Given the description of an element on the screen output the (x, y) to click on. 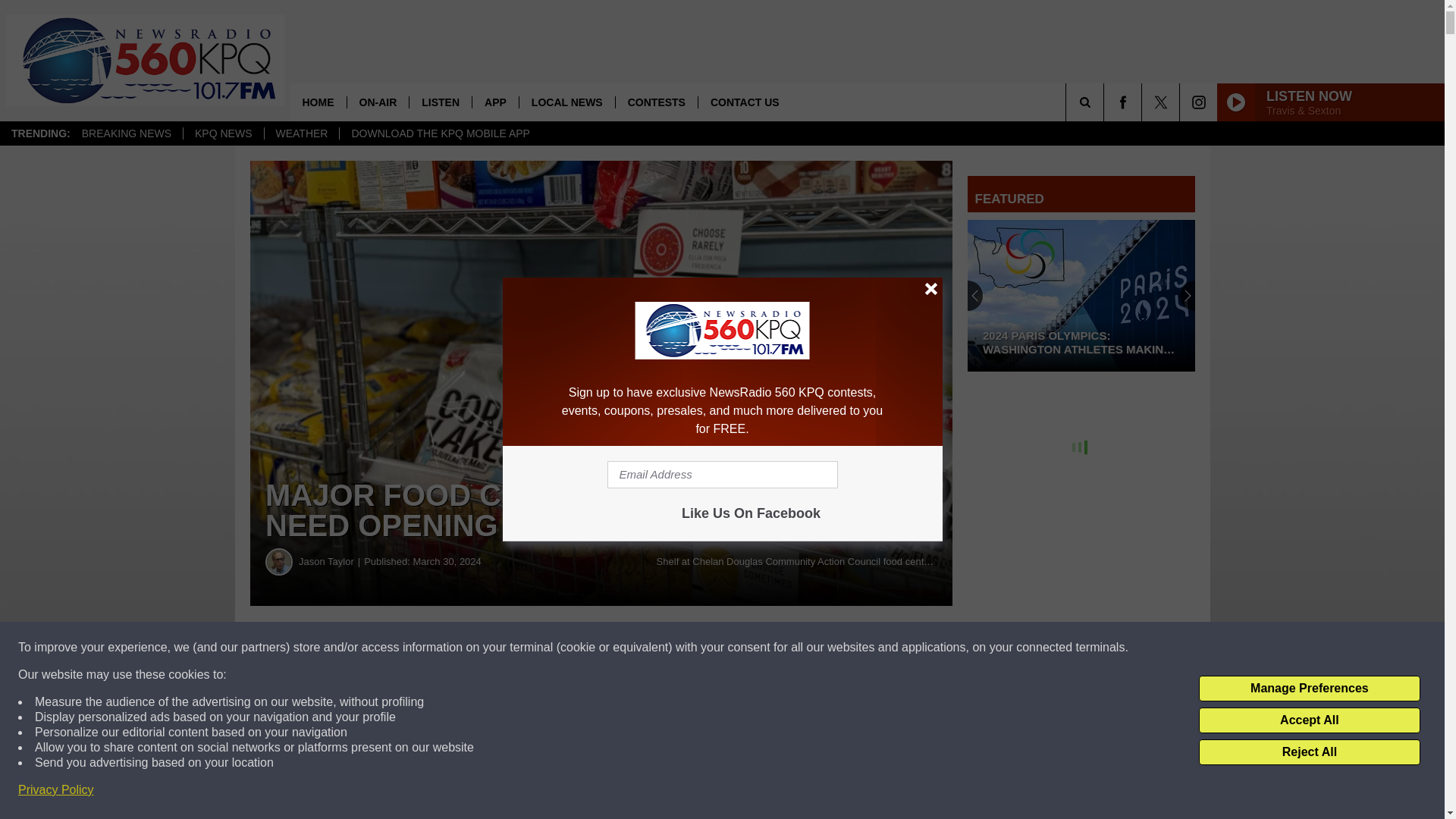
DOWNLOAD THE KPQ MOBILE APP (439, 133)
BREAKING NEWS (126, 133)
Accept All (1309, 720)
Share on Facebook (460, 647)
WEATHER (301, 133)
KPQ NEWS (223, 133)
Reject All (1309, 751)
APP (494, 102)
Manage Preferences (1309, 688)
Email Address (722, 474)
HOME (317, 102)
LISTEN (440, 102)
Share on Twitter (741, 647)
CONTACT US (744, 102)
LOCAL NEWS (566, 102)
